Given the description of an element on the screen output the (x, y) to click on. 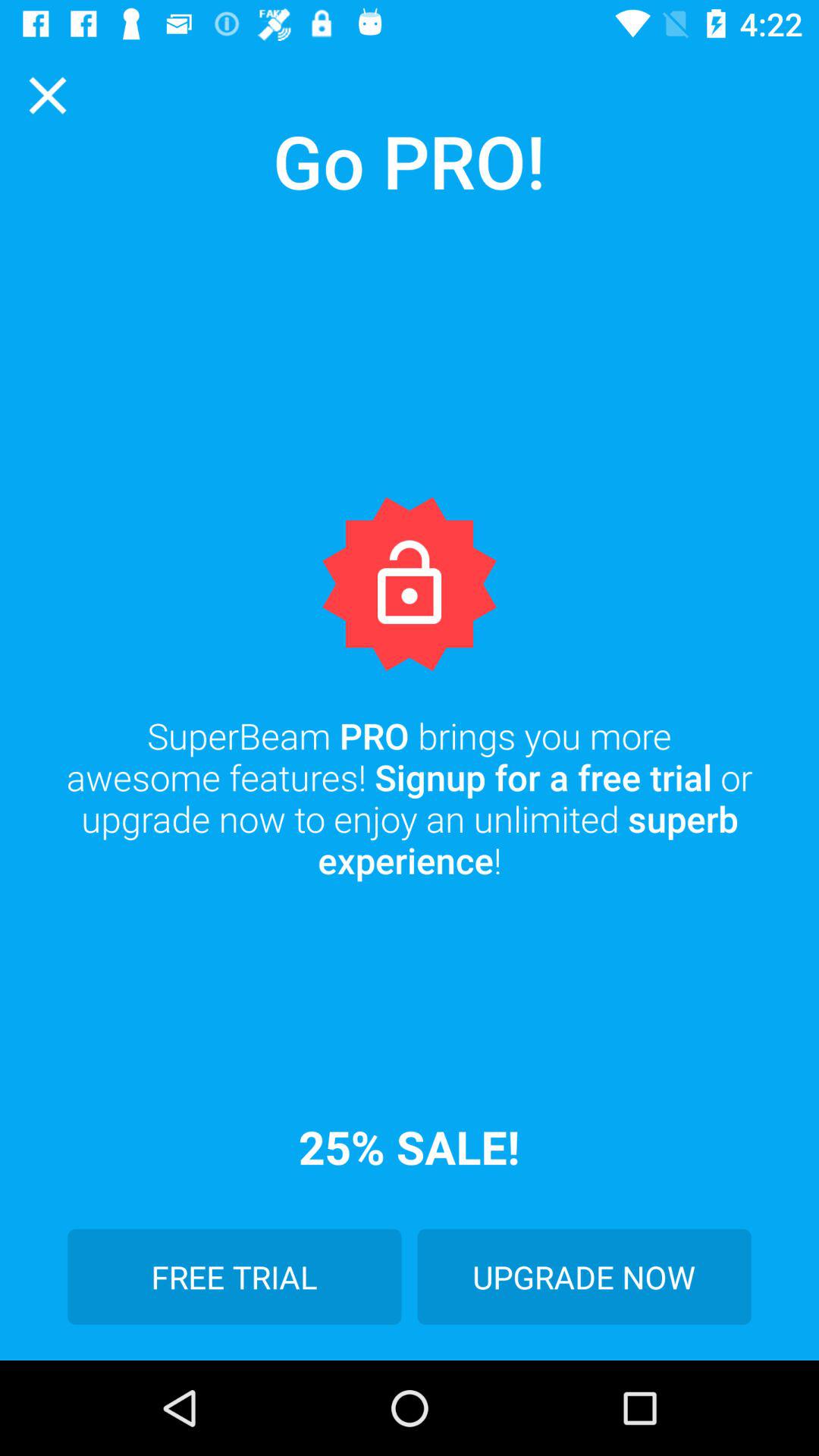
close current window (47, 95)
